Given the description of an element on the screen output the (x, y) to click on. 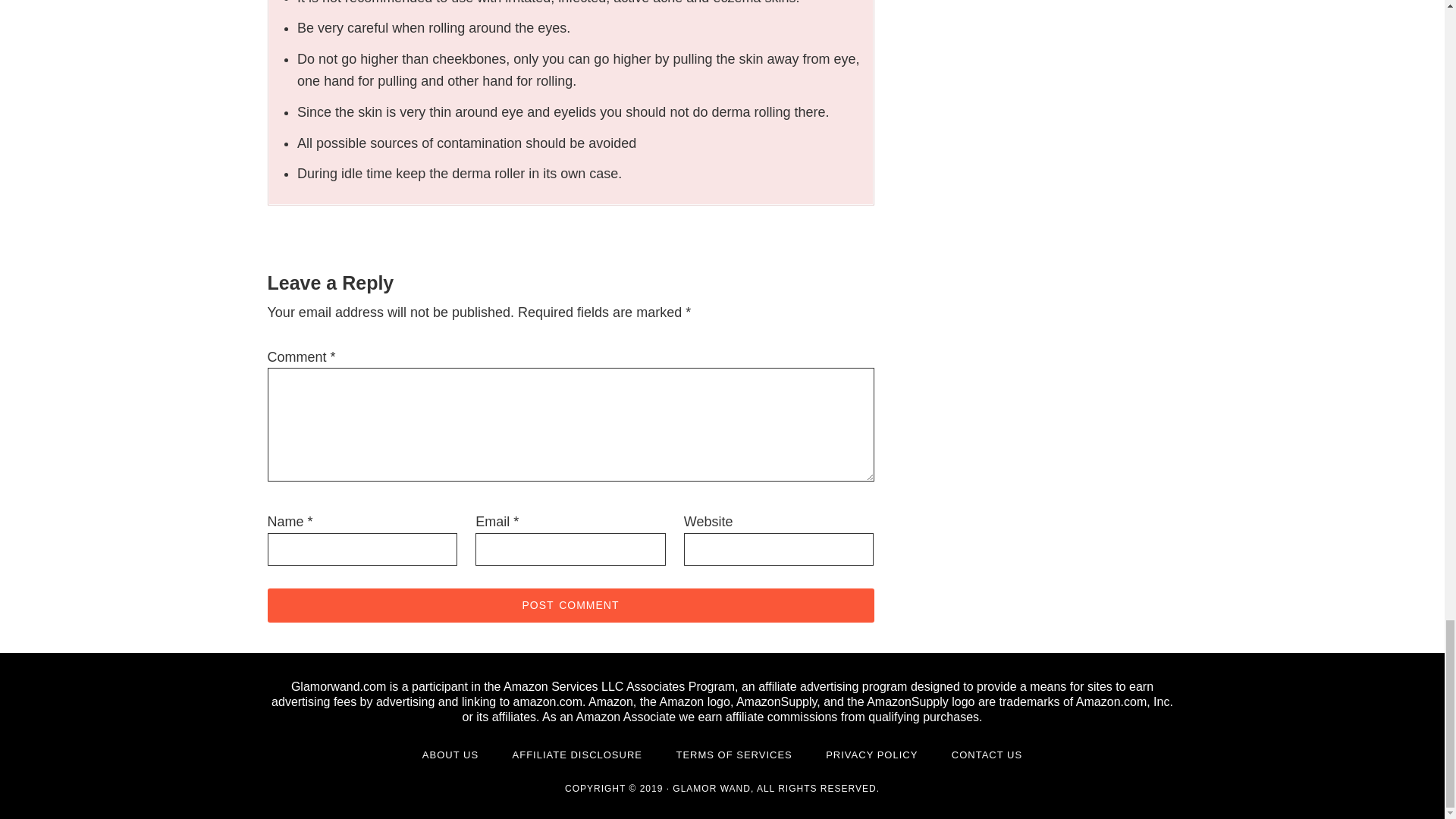
Post Comment (569, 605)
Post Comment (569, 605)
TERMS OF SERVICES (733, 754)
AFFILIATE DISCLOSURE (577, 754)
CONTACT US (987, 754)
ABOUT US (450, 754)
PRIVACY POLICY (871, 754)
